Given the description of an element on the screen output the (x, y) to click on. 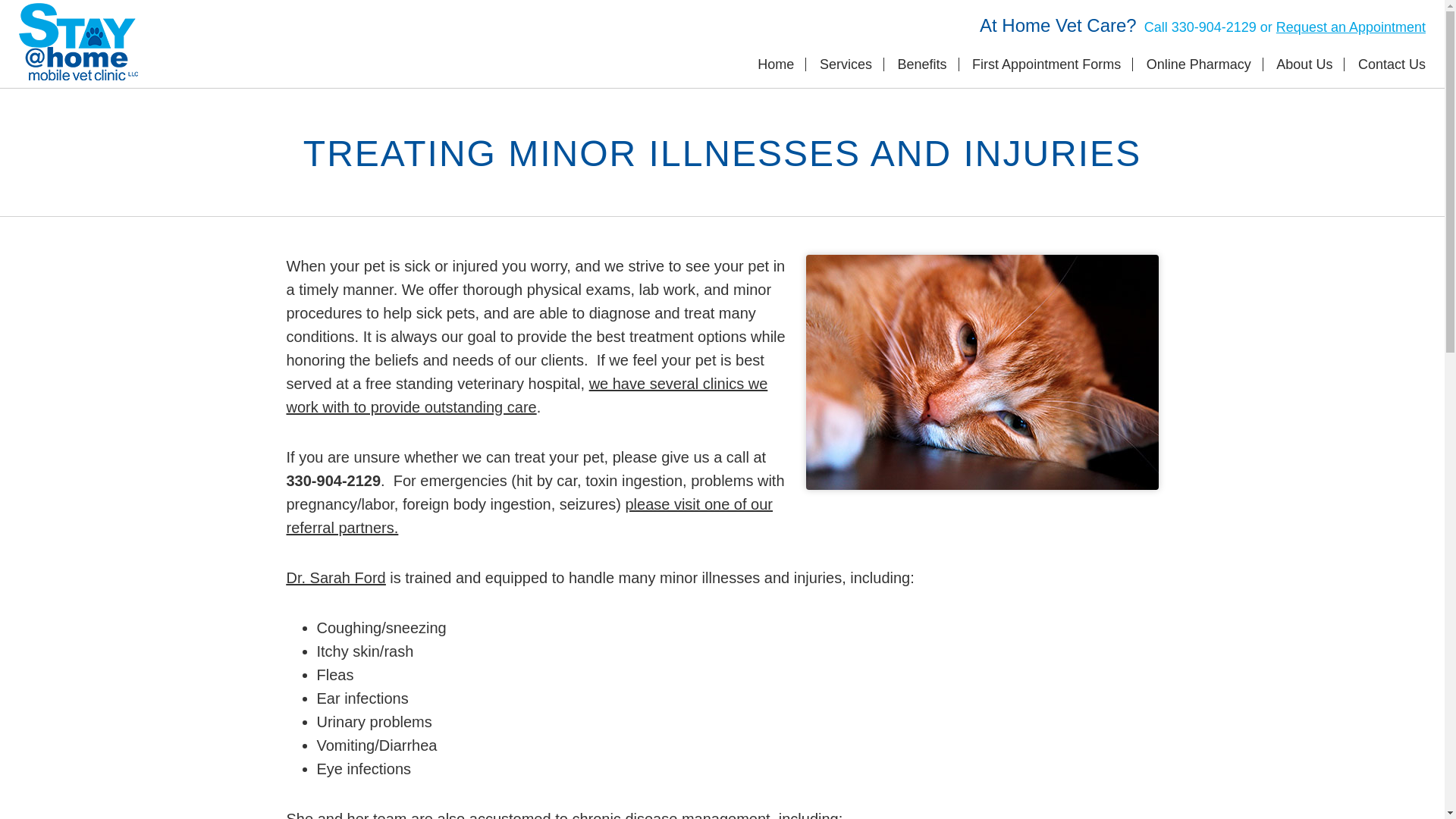
Services (845, 64)
Benefits (921, 64)
Dr. Sarah Ford (335, 577)
Request an Appointment (1350, 27)
please visit one of our referral partners. (529, 516)
Contact Us (1391, 64)
About Us (1304, 64)
First Appointment Forms (1046, 64)
Home (775, 64)
Online Pharmacy (1198, 64)
